Given the description of an element on the screen output the (x, y) to click on. 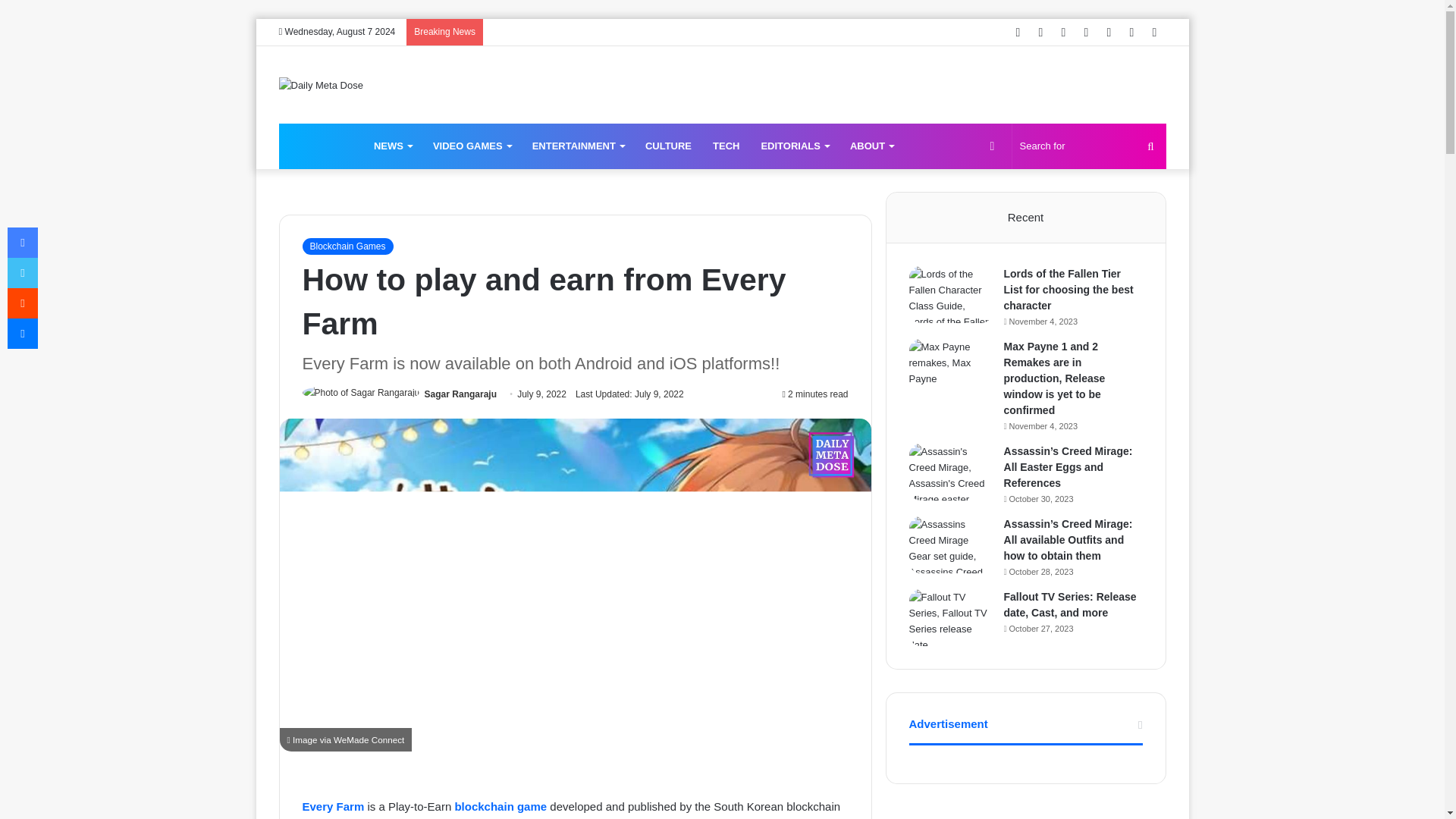
Sagar Rangaraju (460, 394)
Daily Meta Dose (320, 146)
Daily Meta Dose (320, 84)
CULTURE (667, 145)
ENTERTAINMENT (577, 145)
Search for (1088, 145)
VIDEO GAMES (471, 145)
NEWS (392, 145)
